Given the description of an element on the screen output the (x, y) to click on. 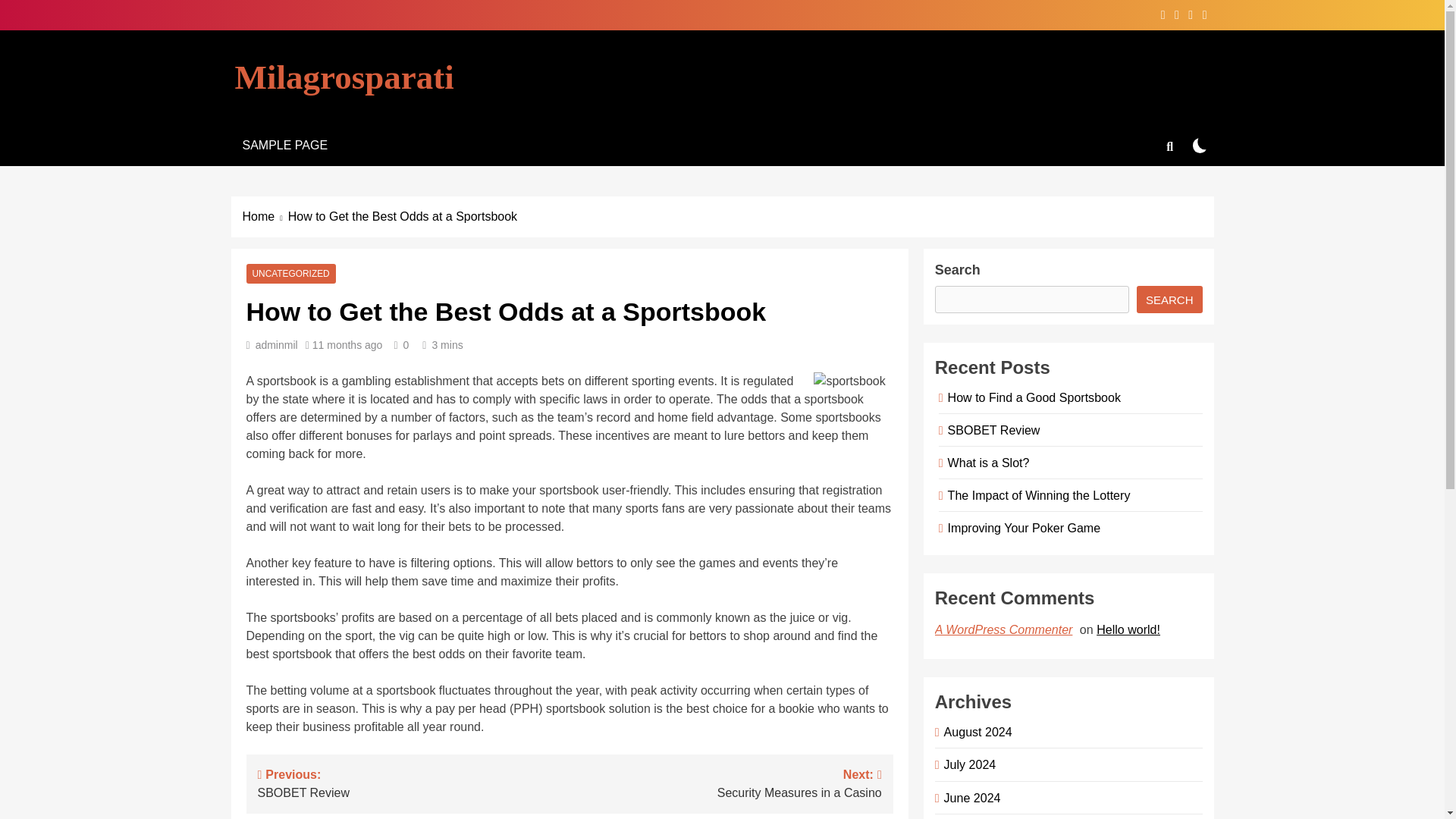
The Impact of Winning the Lottery (1036, 495)
What is a Slot? (986, 462)
A WordPress Commenter (1005, 629)
adminmil (277, 345)
Milagrosparati (344, 77)
UNCATEGORIZED (290, 273)
How to Find a Good Sportsbook (1031, 397)
Home (265, 217)
SBOBET Review (991, 429)
Hello world! (1129, 629)
July 2024 (967, 764)
August 2024 (725, 782)
Improving Your Poker Game (975, 731)
11 months ago (1021, 527)
